Given the description of an element on the screen output the (x, y) to click on. 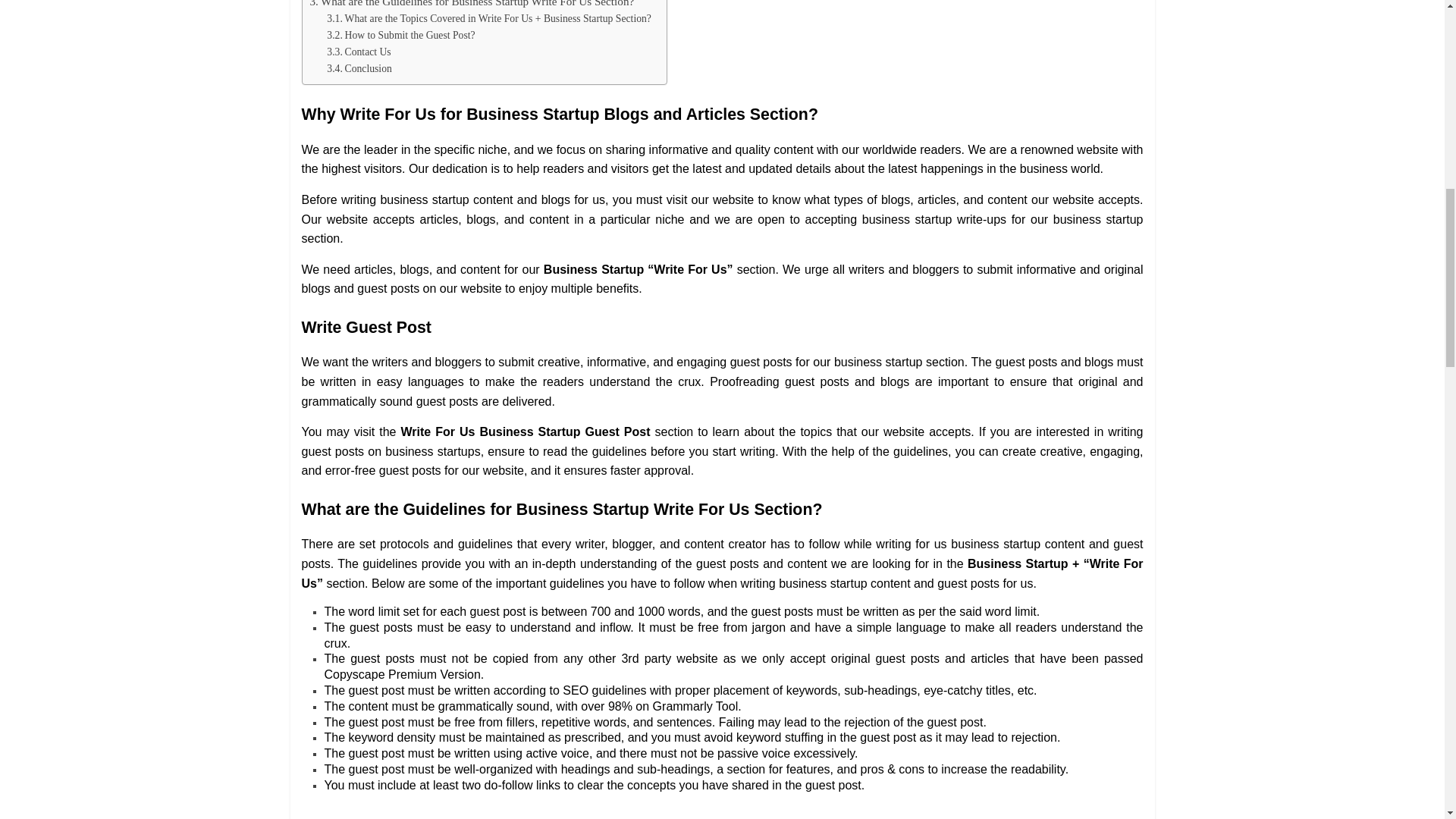
Contact Us (358, 52)
Conclusion (358, 68)
How to Submit the Guest Post? (400, 35)
